Given the description of an element on the screen output the (x, y) to click on. 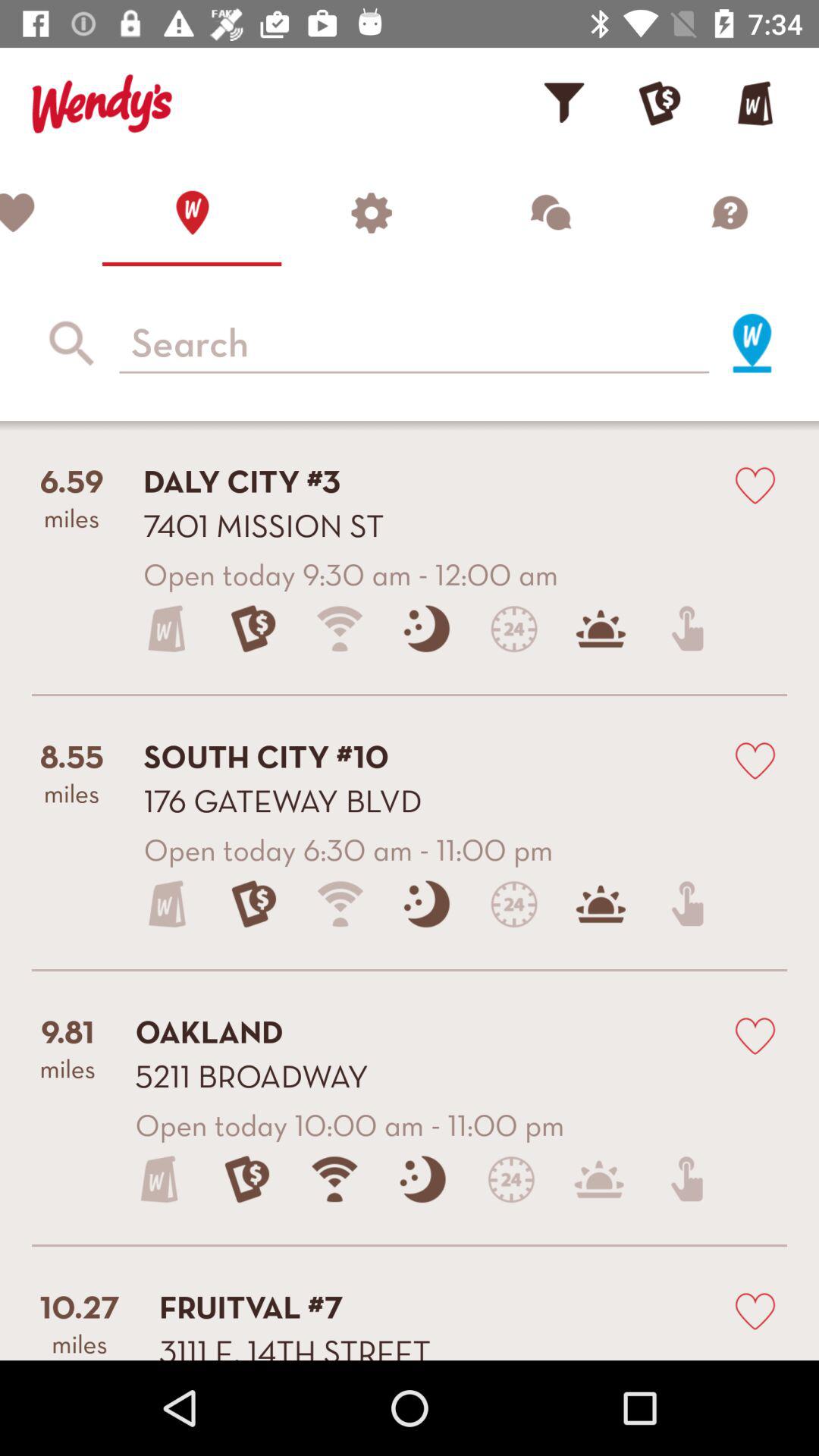
favorite button (755, 484)
